Given the description of an element on the screen output the (x, y) to click on. 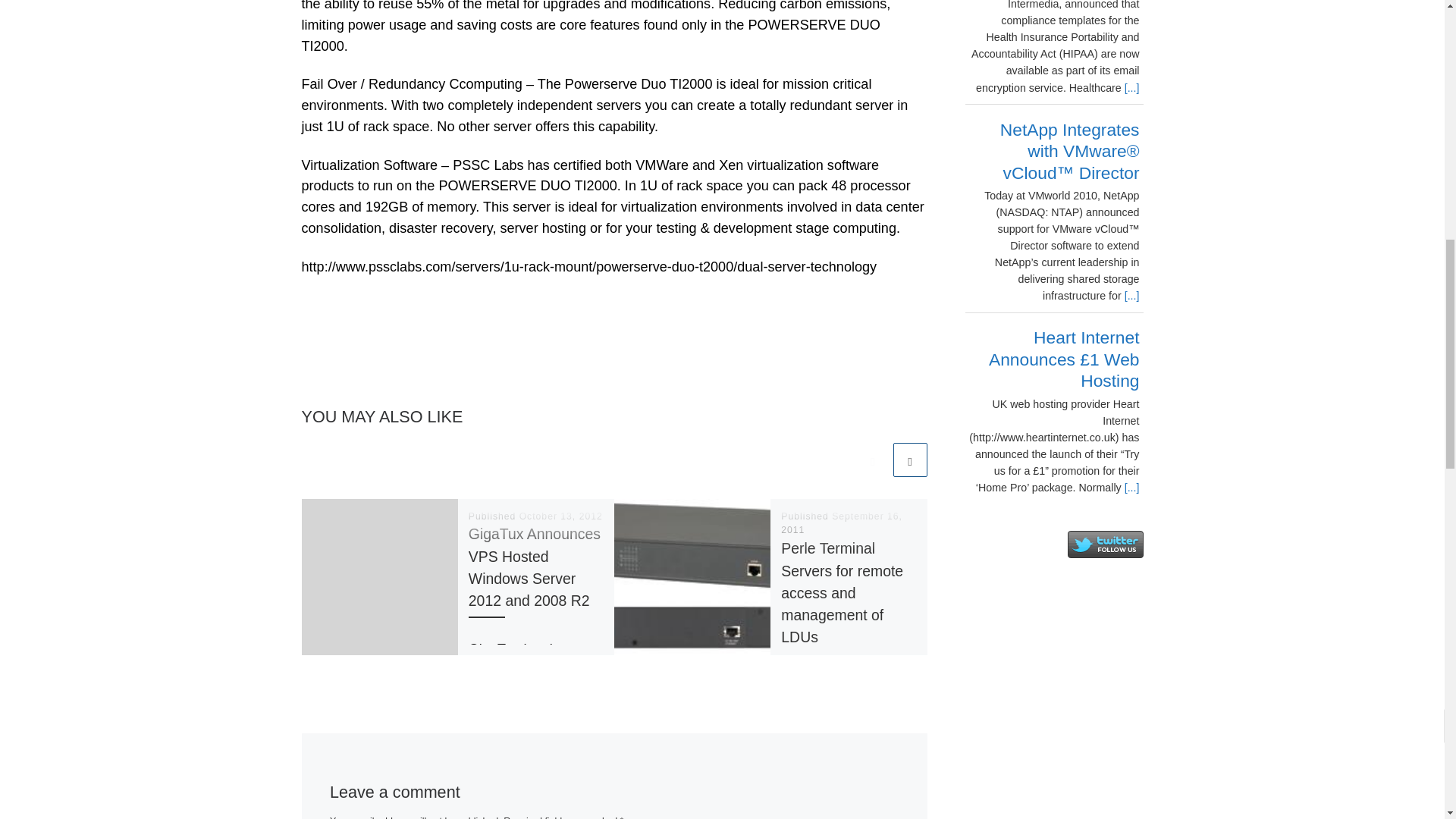
September 16, 2011 (841, 523)
Next related articles (910, 459)
October 13, 2012 (560, 516)
GigaTux Announces VPS Hosted Windows Server 2012 and 2008 R2 (533, 566)
Previous related articles (872, 459)
